Given the description of an element on the screen output the (x, y) to click on. 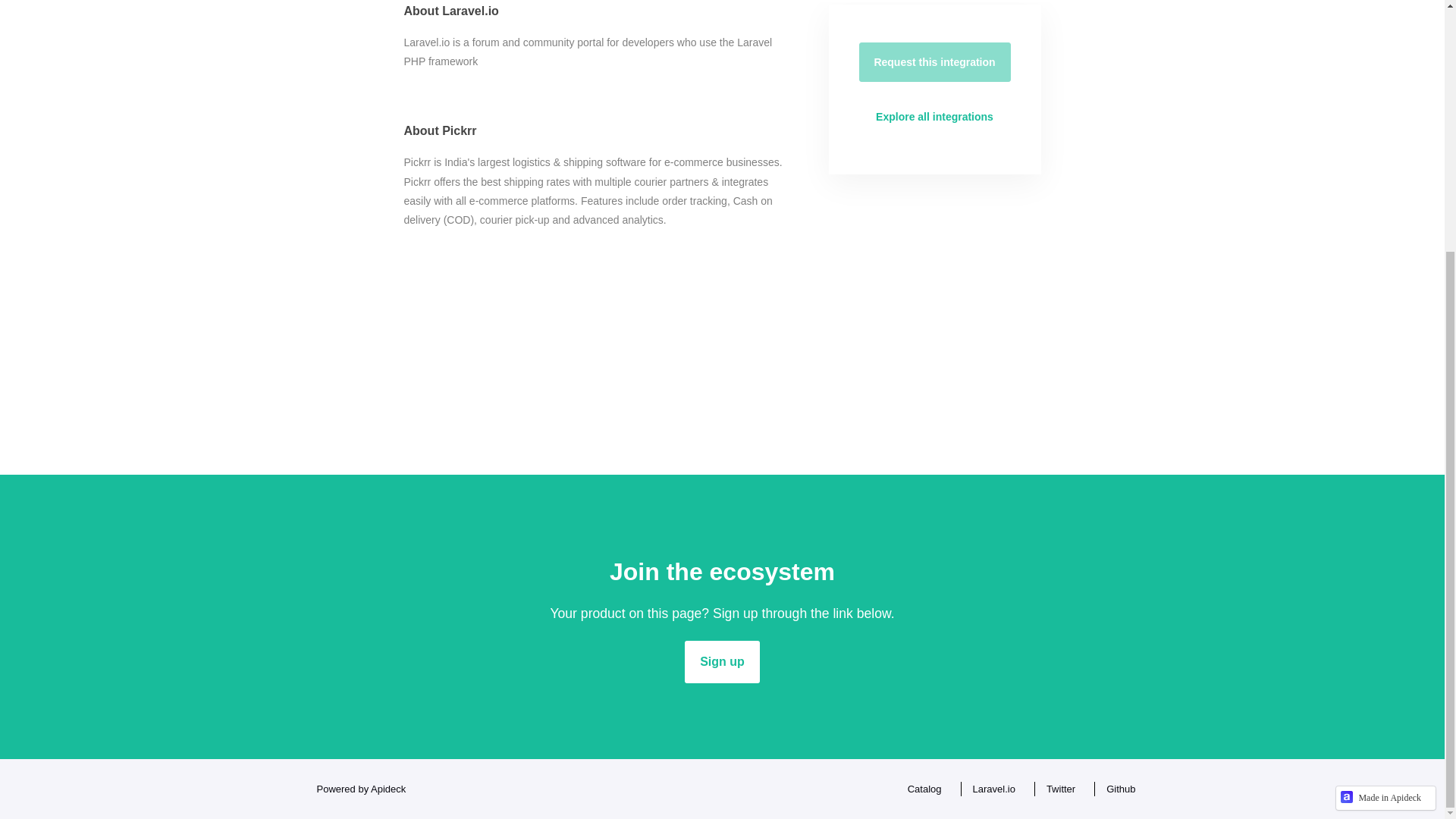
Sign up (722, 661)
Powered by Apideck (356, 789)
Github (1116, 789)
Twitter (1056, 789)
Catalog (920, 789)
Explore all integrations (934, 116)
Laravel.io (989, 789)
Request this integration (934, 61)
